Given the description of an element on the screen output the (x, y) to click on. 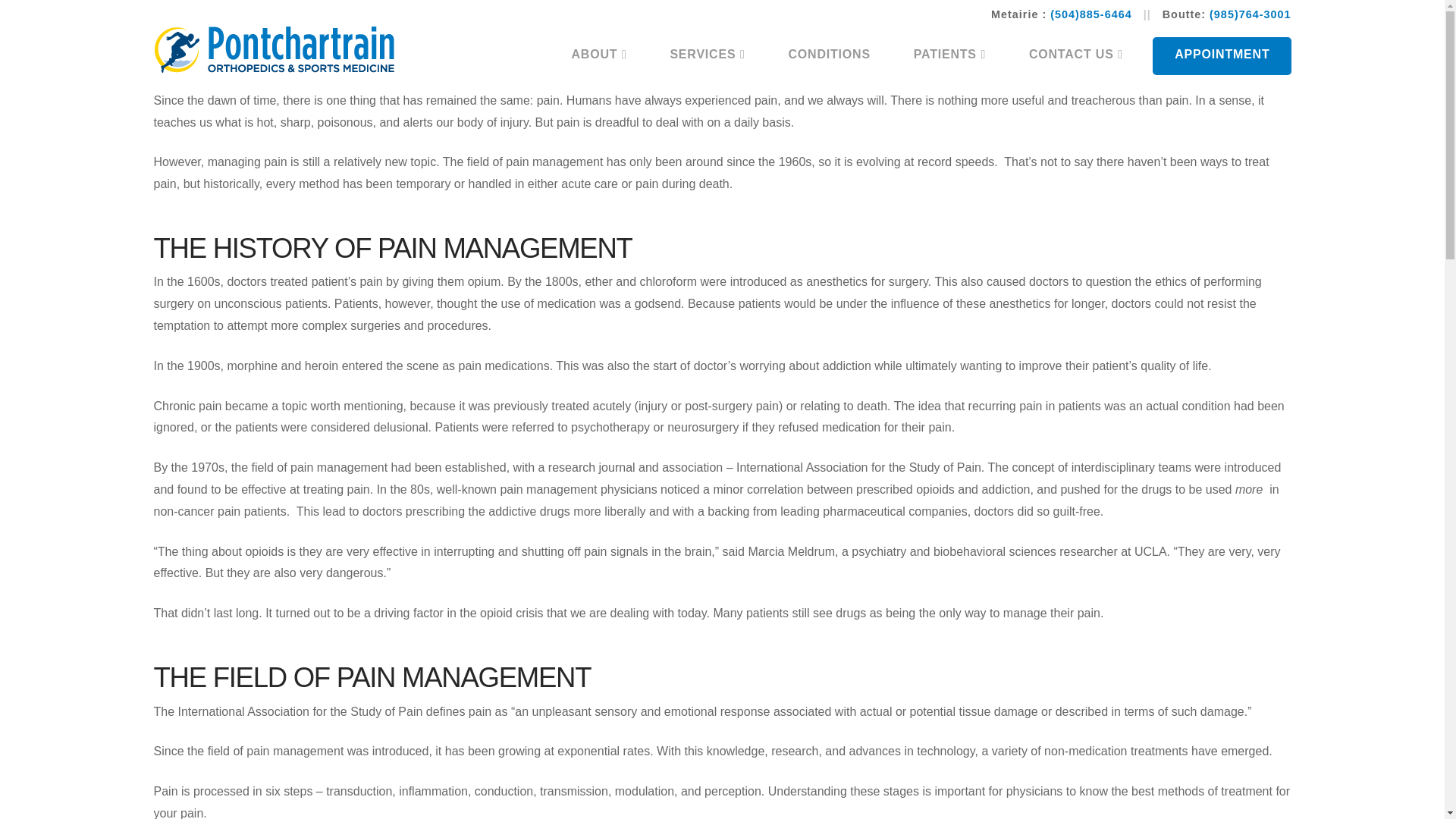
CONTACT US (1065, 56)
PATIENTS (949, 56)
CONDITIONS (829, 56)
APPOINTMENT (1221, 55)
ABOUT (598, 56)
SERVICES (707, 56)
